Given the description of an element on the screen output the (x, y) to click on. 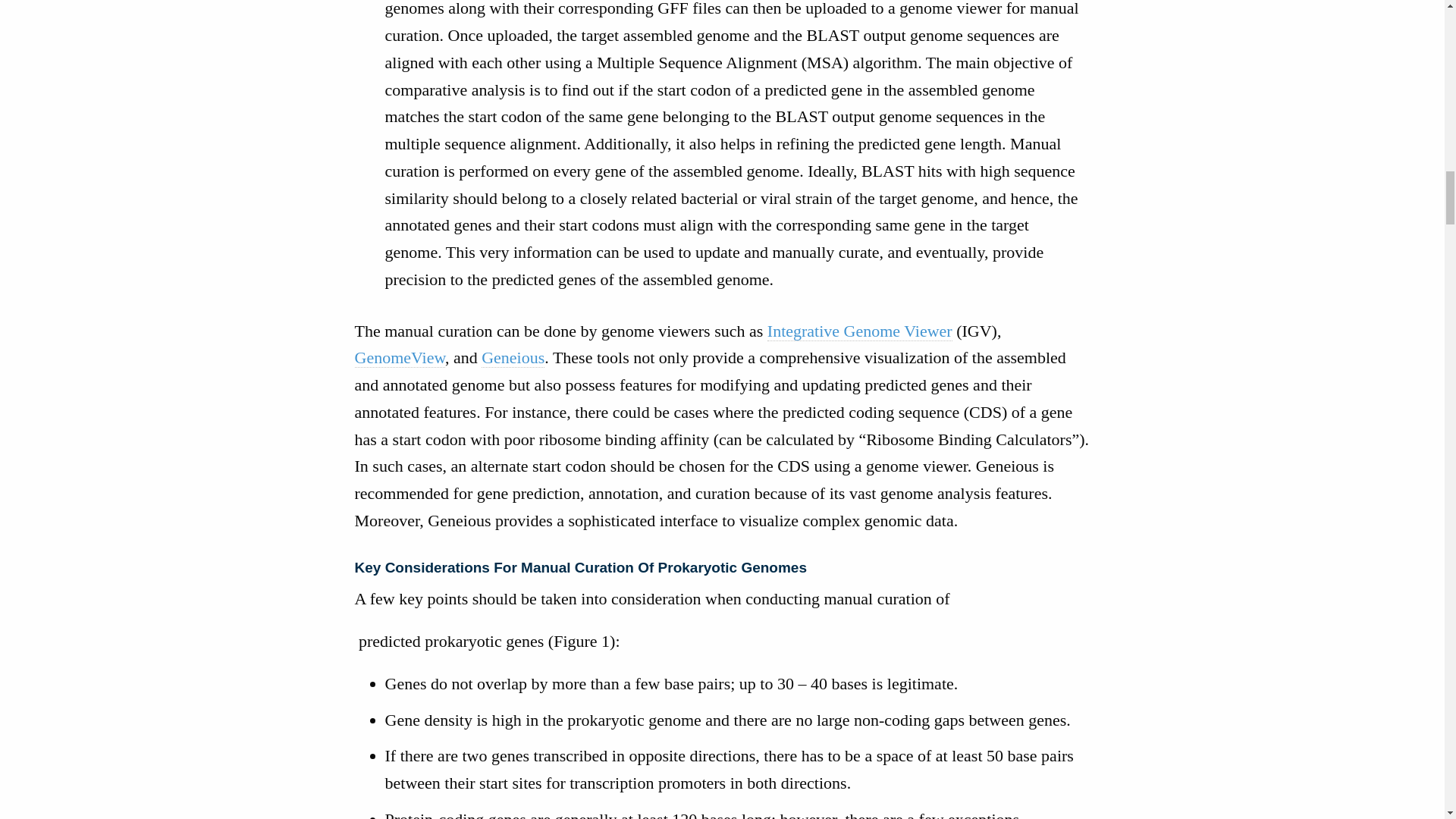
Integrative Genome Viewer (859, 331)
GenomeView (400, 357)
Geneious (512, 357)
